Given the description of an element on the screen output the (x, y) to click on. 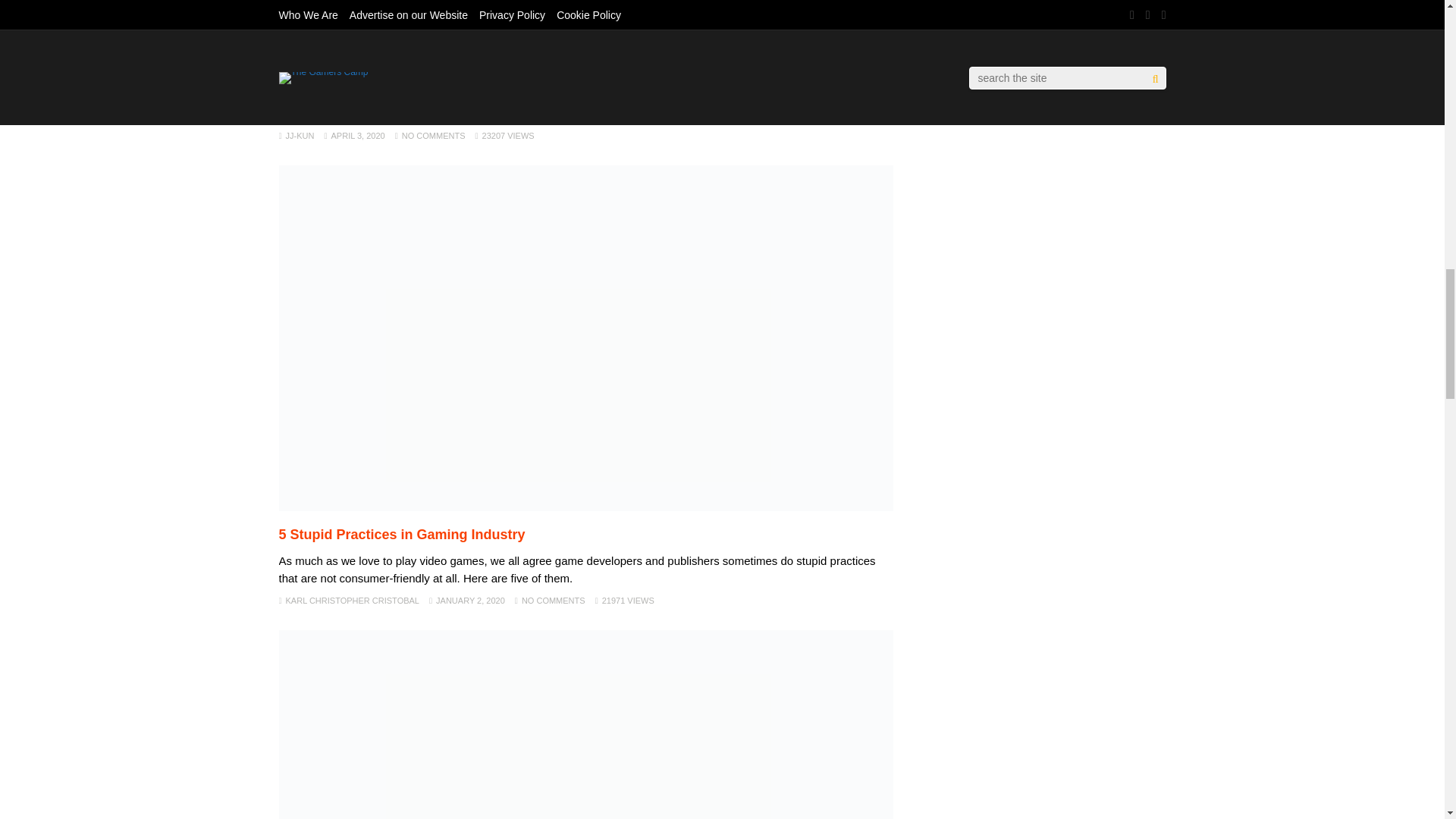
5 Stupid Practices in Gaming Industry (586, 506)
